Given the description of an element on the screen output the (x, y) to click on. 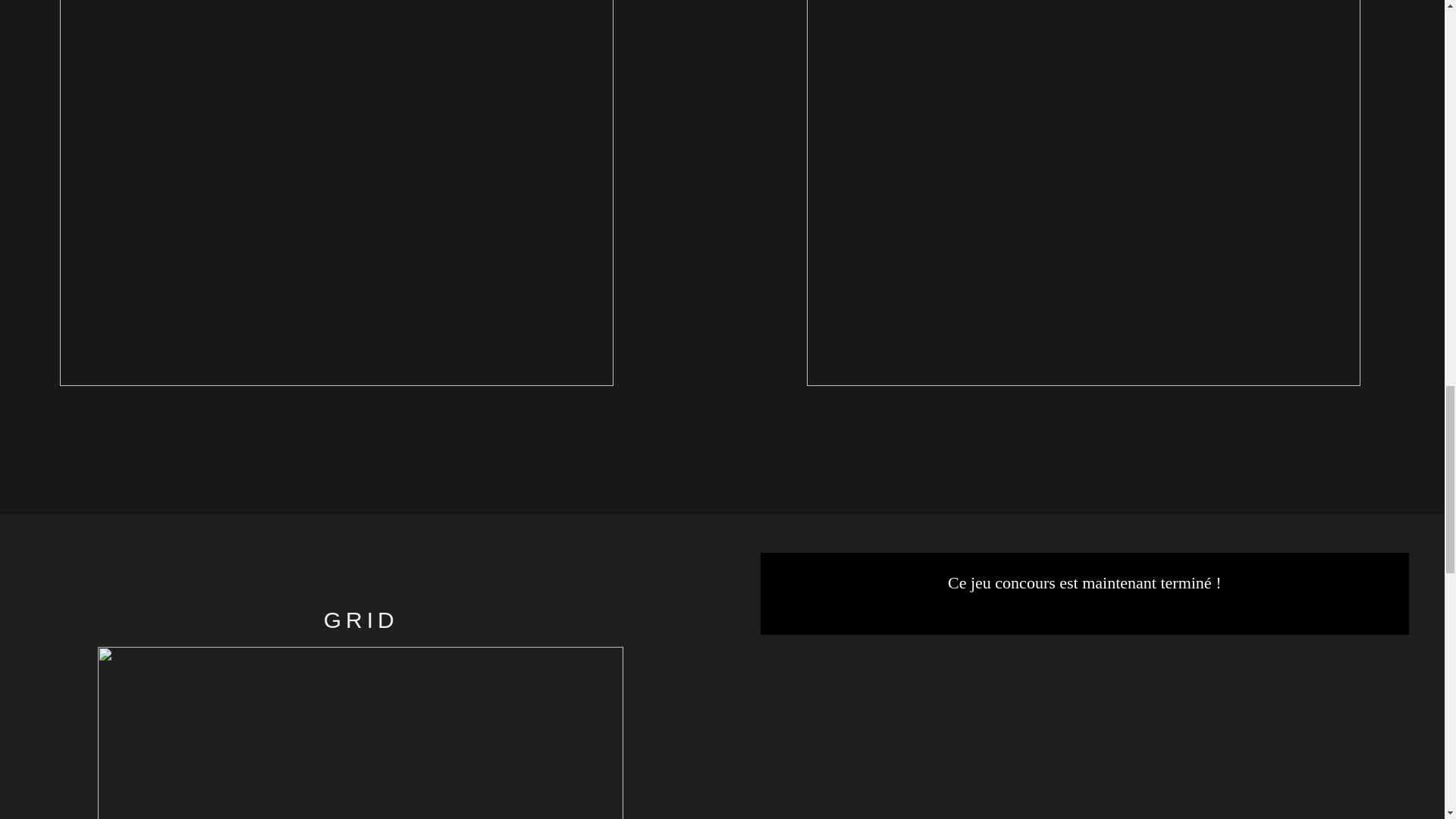
Join the dance difference.jpg (360, 733)
